Given the description of an element on the screen output the (x, y) to click on. 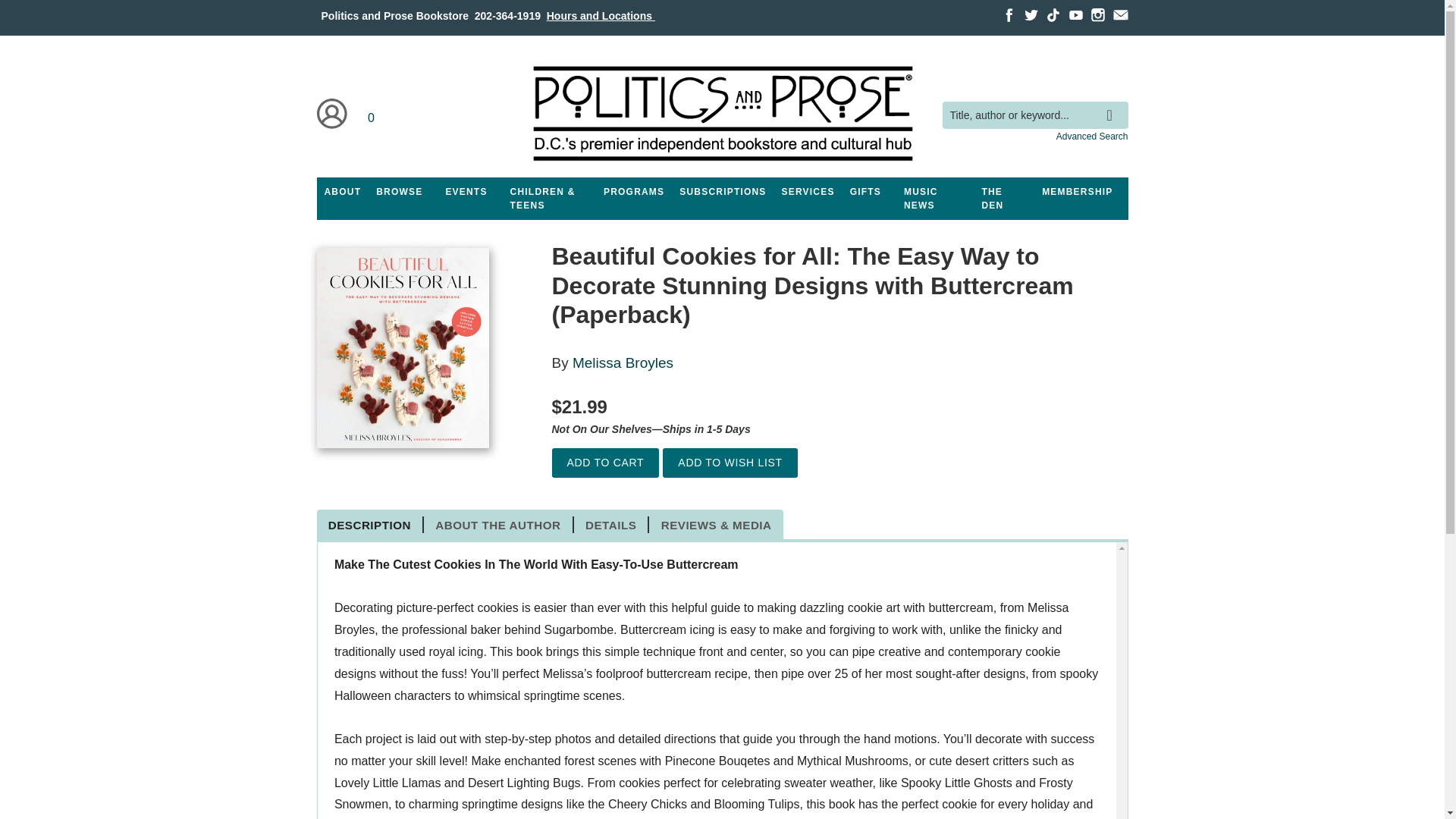
Home (721, 114)
Add to Wish List (729, 462)
EVENTS (465, 191)
Advanced Search (1092, 136)
Add to Cart (605, 462)
Browse our shelves (398, 191)
Children and Teens Department (548, 198)
PROGRAMS (633, 191)
See information about our programs (633, 191)
See our event calendar (465, 191)
search (1112, 103)
search (1112, 103)
Hours and Locations  (601, 15)
See our store ours and locations (601, 15)
